Given the description of an element on the screen output the (x, y) to click on. 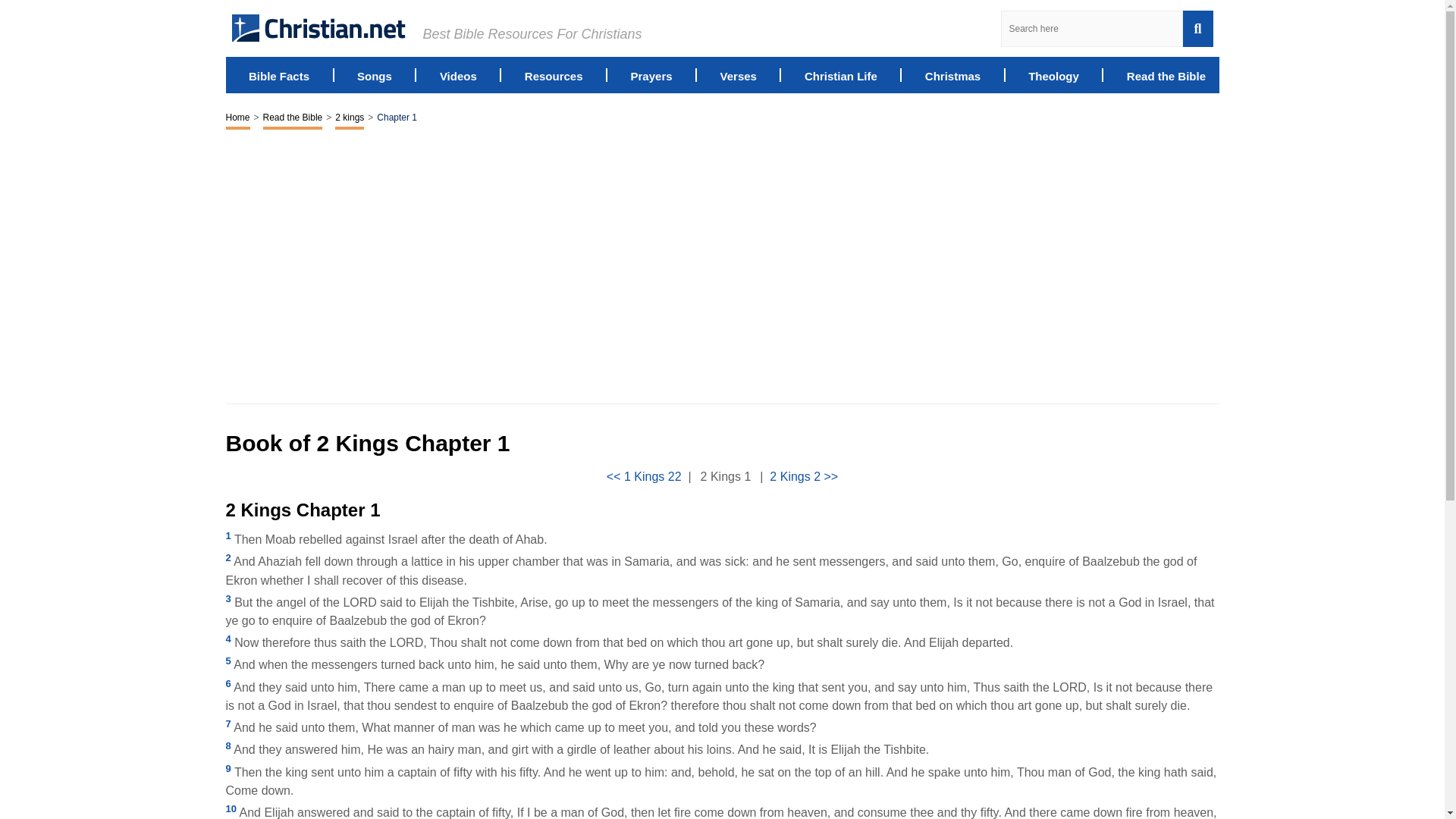
Read the Bible (293, 118)
Christian Life (841, 74)
Verses (738, 74)
Prayers (651, 74)
Christmas (951, 74)
Resources (553, 74)
Home (237, 118)
Theology (1052, 74)
Read the Bible (1165, 74)
2 kings (349, 118)
Videos (458, 74)
Songs (373, 74)
Bible Facts (278, 74)
1 Kings Chapter 22 (644, 476)
2 Kings Chapter 2 (804, 476)
